Given the description of an element on the screen output the (x, y) to click on. 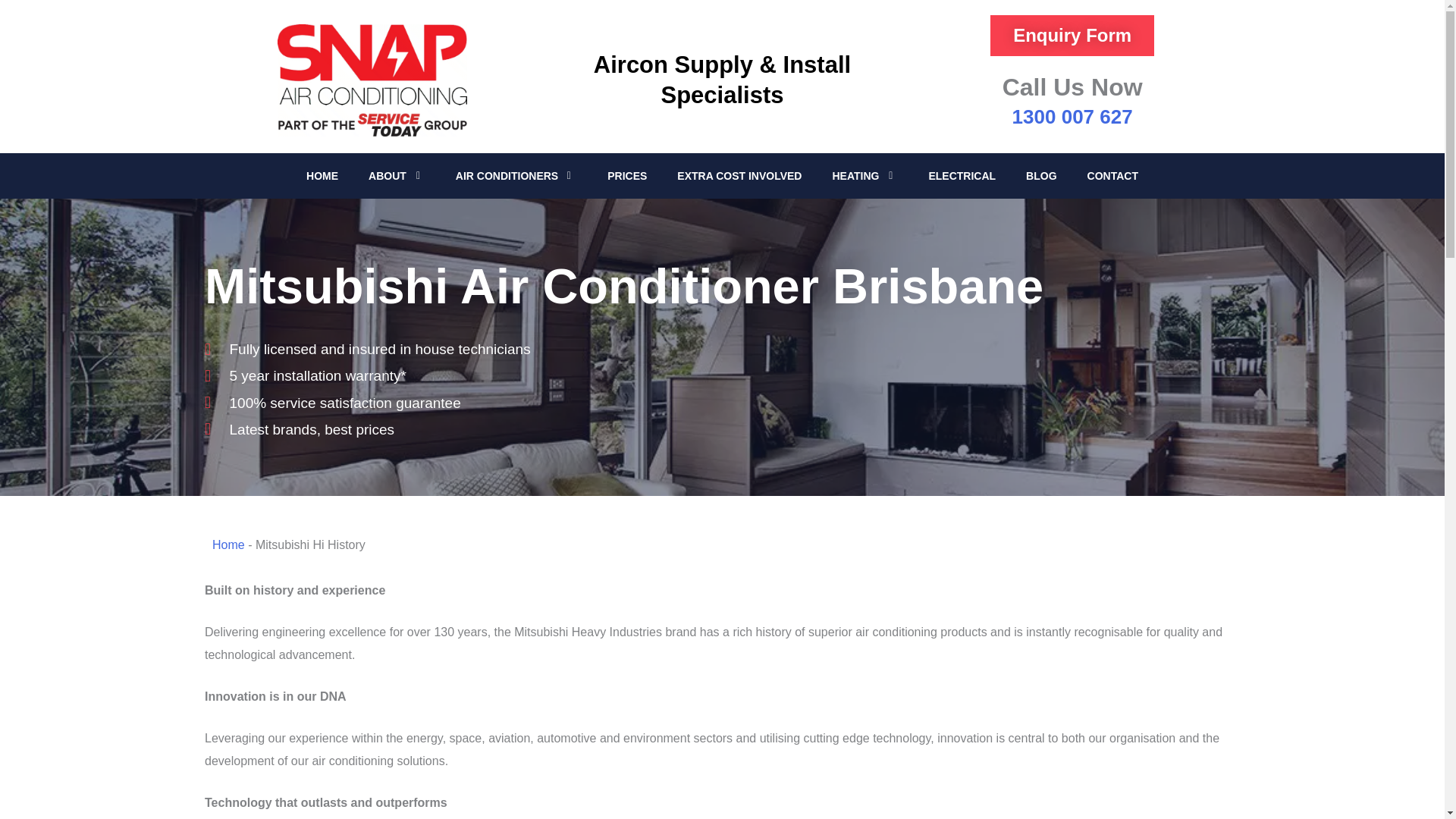
HOME (321, 175)
AIR CONDITIONERS (507, 175)
1300 007 627 (1071, 116)
Snap logo 2 (372, 80)
Enquiry Form (1072, 35)
ABOUT (389, 175)
Call Us Now (1072, 86)
